Given the description of an element on the screen output the (x, y) to click on. 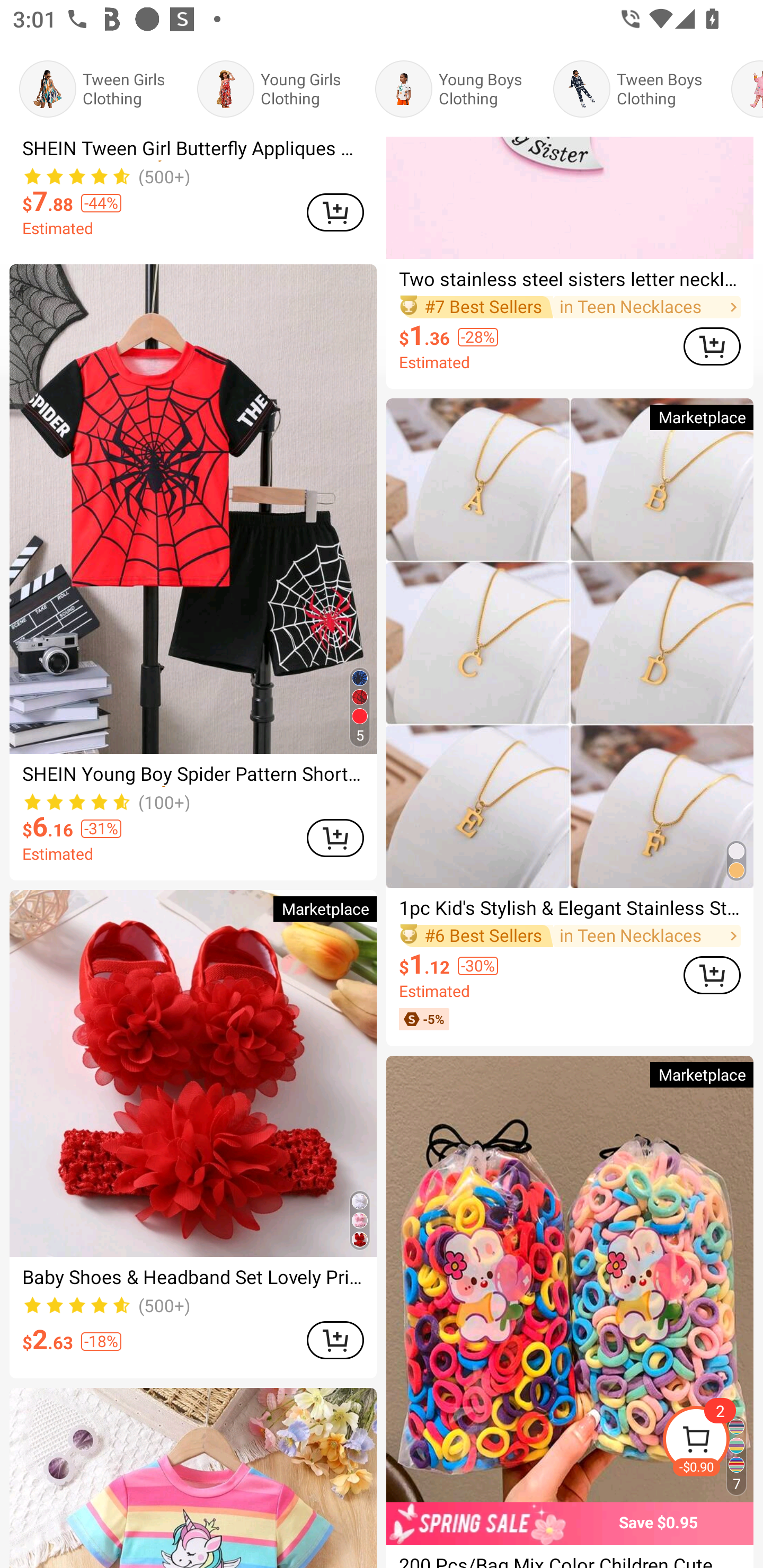
Tween Girls Clothing (98, 89)
Young Girls Clothing (276, 89)
Young Boys Clothing (454, 89)
Tween Boys Clothing (632, 89)
ADD TO CART (334, 212)
#7 Best Sellers in Teen Necklaces (569, 306)
ADD TO CART (711, 346)
ADD TO CART (334, 837)
#6 Best Sellers in Teen Necklaces (569, 935)
ADD TO CART (711, 975)
ADD TO CART (334, 1340)
-$0.90 (712, 1441)
